Given the description of an element on the screen output the (x, y) to click on. 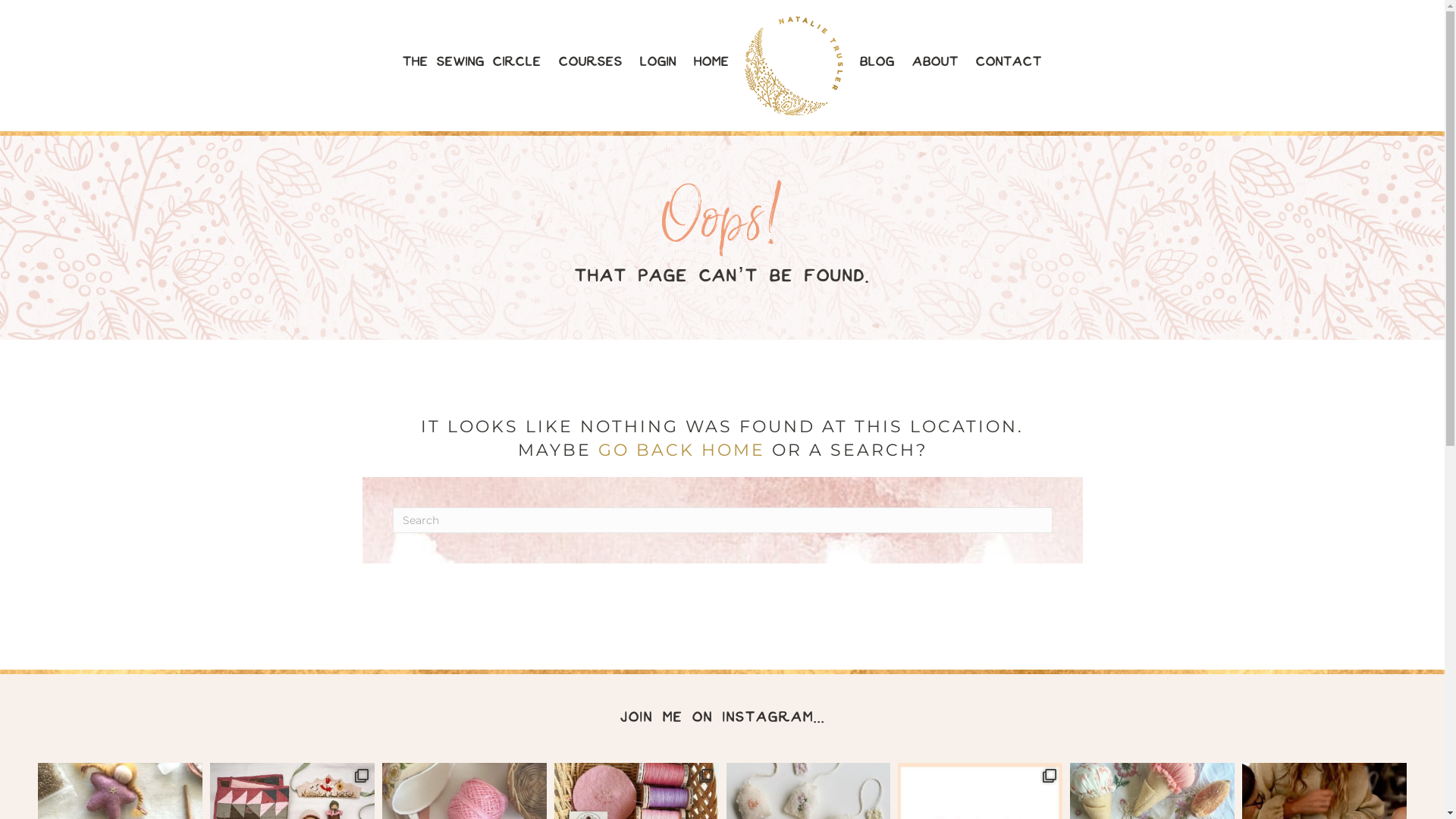
COURSES Element type: text (590, 62)
BLOG Element type: text (877, 62)
HOME Element type: text (710, 62)
THE SEWING CIRCLE Element type: text (472, 62)
LOGIN Element type: text (658, 62)
Type and press Enter to search. Element type: hover (722, 520)
ABOUT Element type: text (935, 62)
GO BACK HOME Element type: text (680, 449)
CONTACT Element type: text (1008, 62)
